Given the description of an element on the screen output the (x, y) to click on. 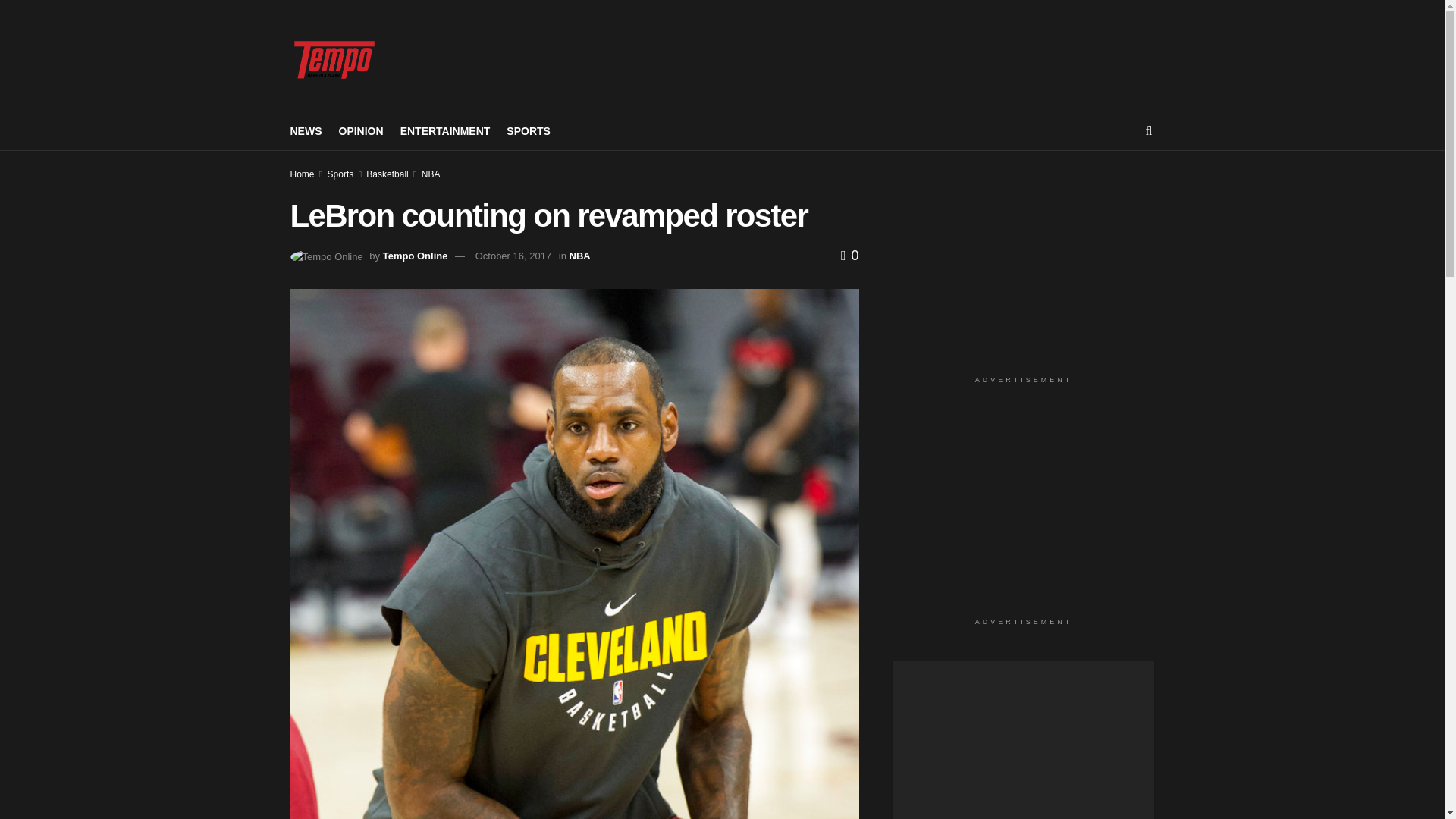
Tempo Online (415, 255)
October 16, 2017 (513, 255)
0 (850, 255)
OPINION (359, 130)
NBA (580, 255)
Basketball (386, 173)
NEWS (305, 130)
SPORTS (528, 130)
ENTERTAINMENT (445, 130)
Home (301, 173)
